Given the description of an element on the screen output the (x, y) to click on. 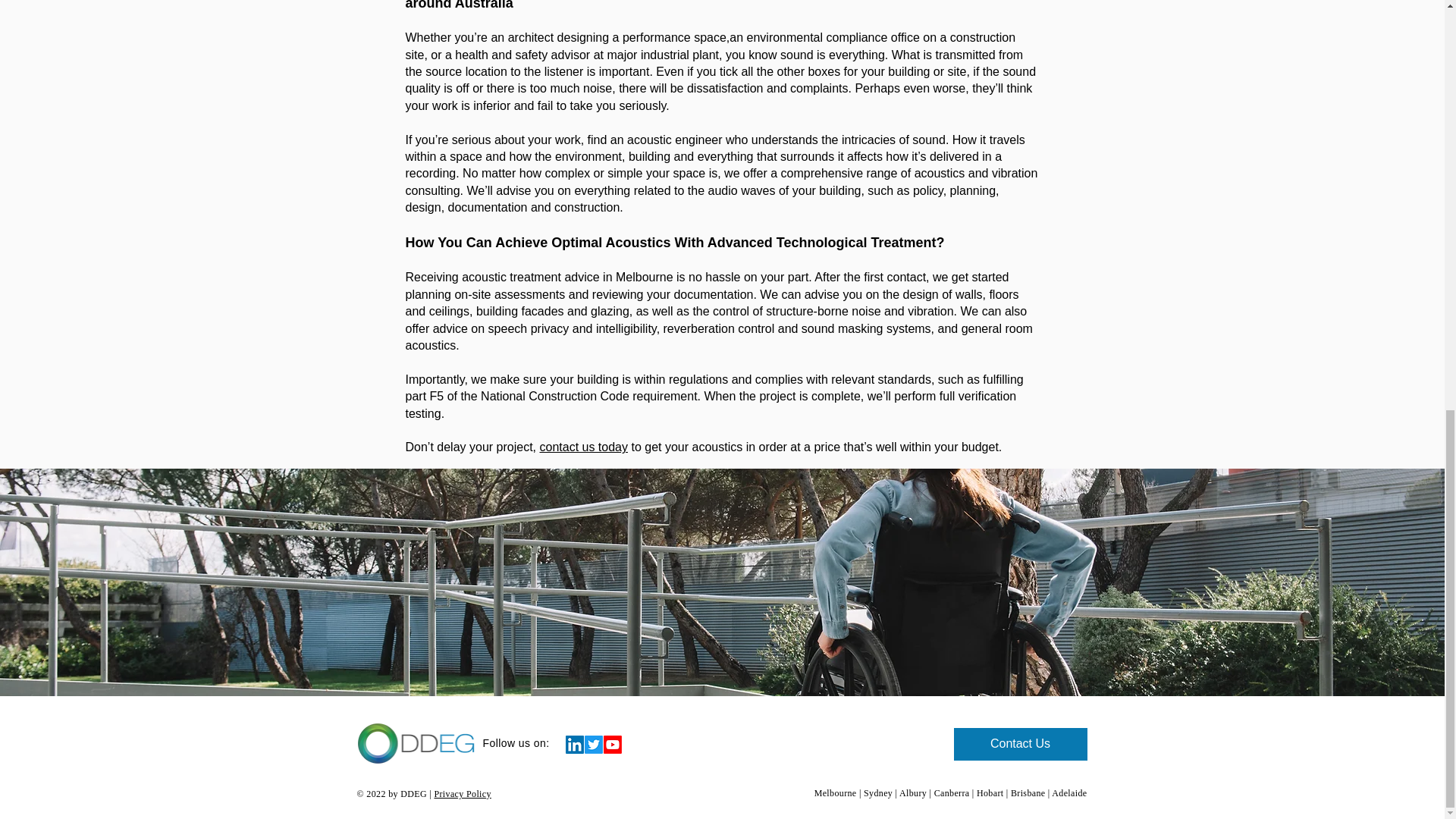
Follow us on:  (516, 743)
contact us today (582, 446)
Contact Us (1020, 744)
Privacy Policy (461, 793)
